Given the description of an element on the screen output the (x, y) to click on. 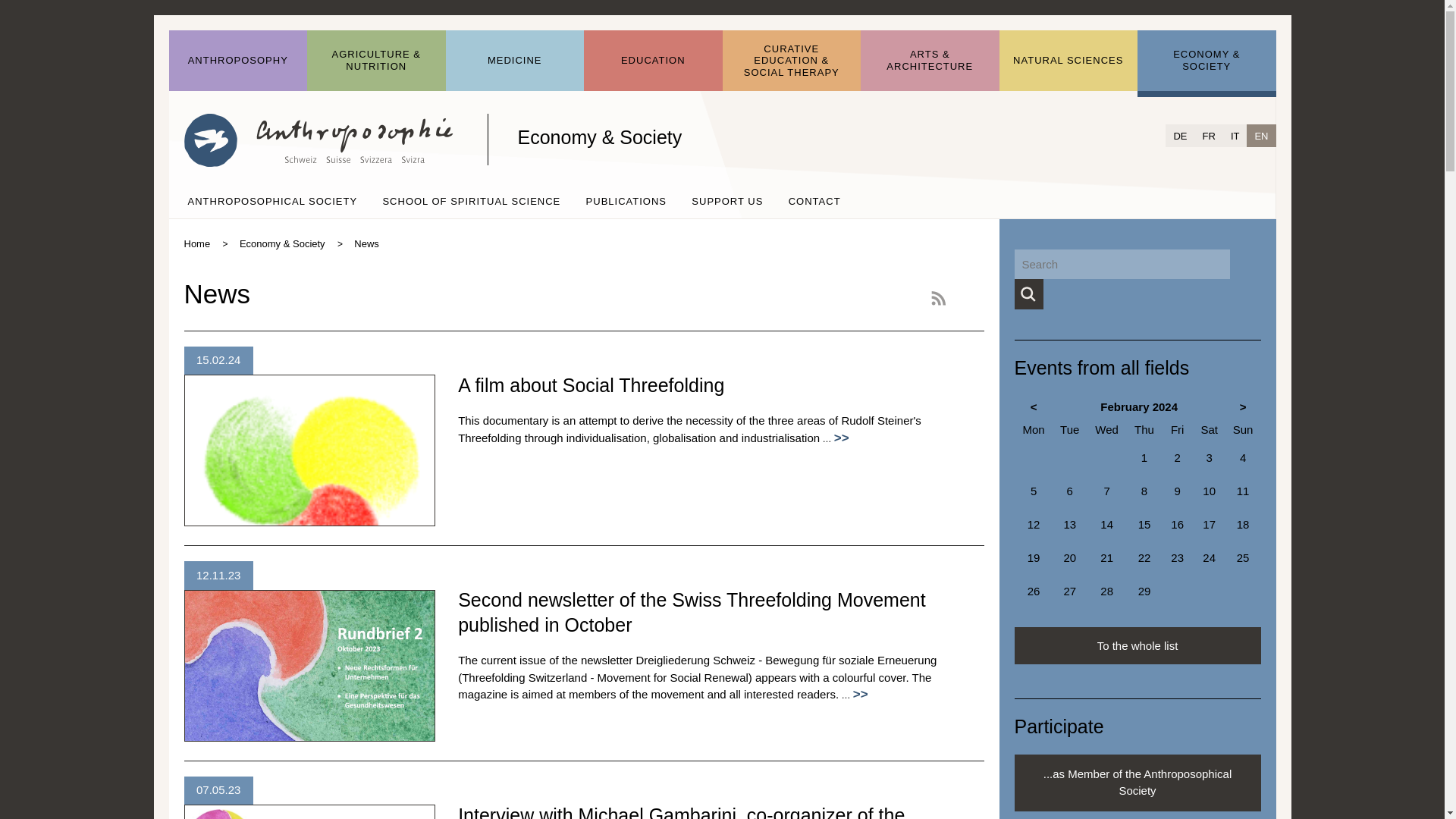
EDUCATION (652, 60)
MEDICINE (515, 60)
ANTHROPOSOPHY (237, 60)
Search (1028, 294)
